Given the description of an element on the screen output the (x, y) to click on. 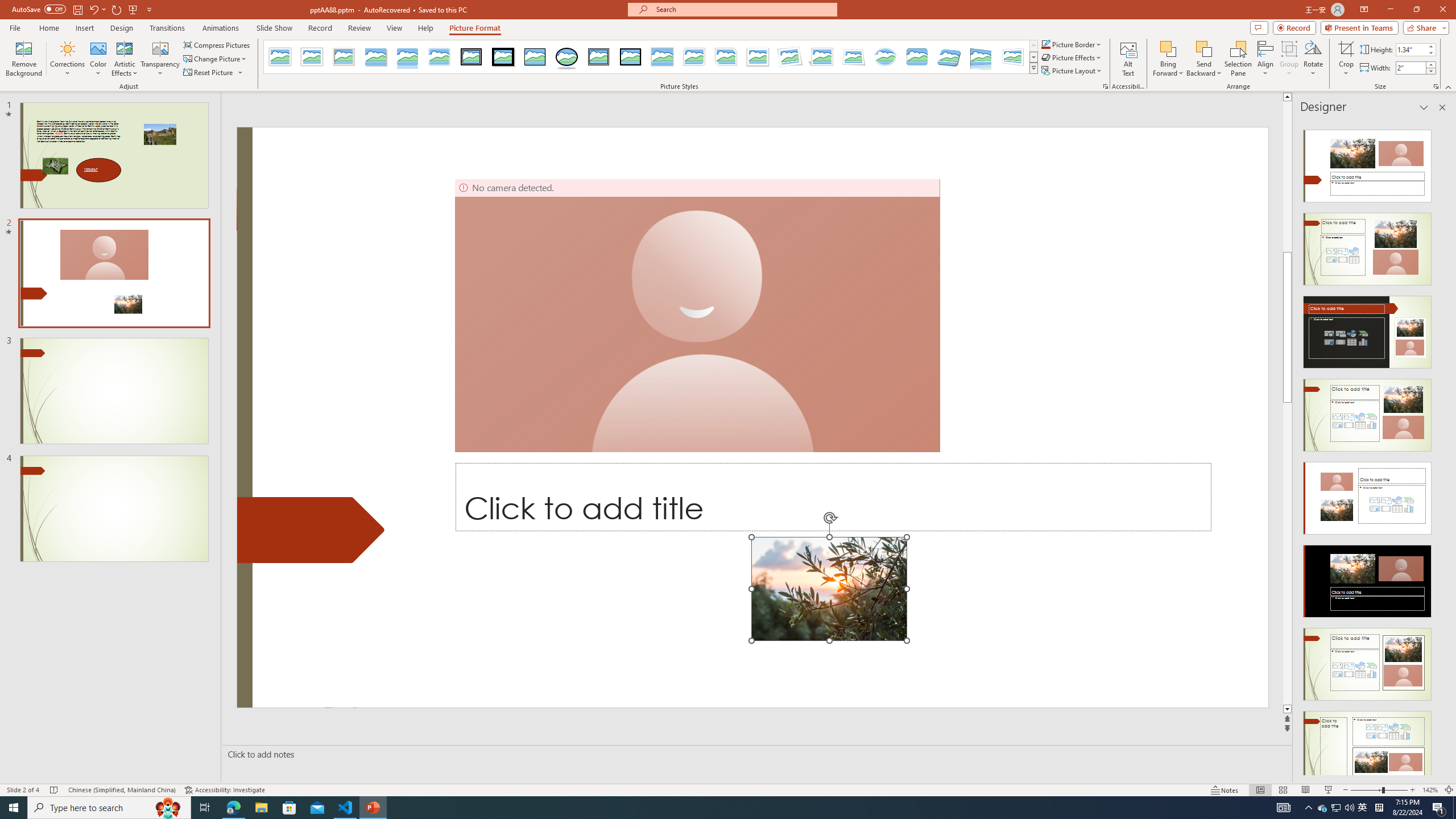
Moderate Frame, Black (630, 56)
Picture... (1104, 85)
Compound Frame, Black (598, 56)
Slide Notes (754, 754)
Center Shadow Rectangle (662, 56)
Relaxed Perspective, White (853, 56)
Double Frame, Black (471, 56)
Rounded Diagonal Corner, White (694, 56)
Artistic Effects (124, 58)
